Given the description of an element on the screen output the (x, y) to click on. 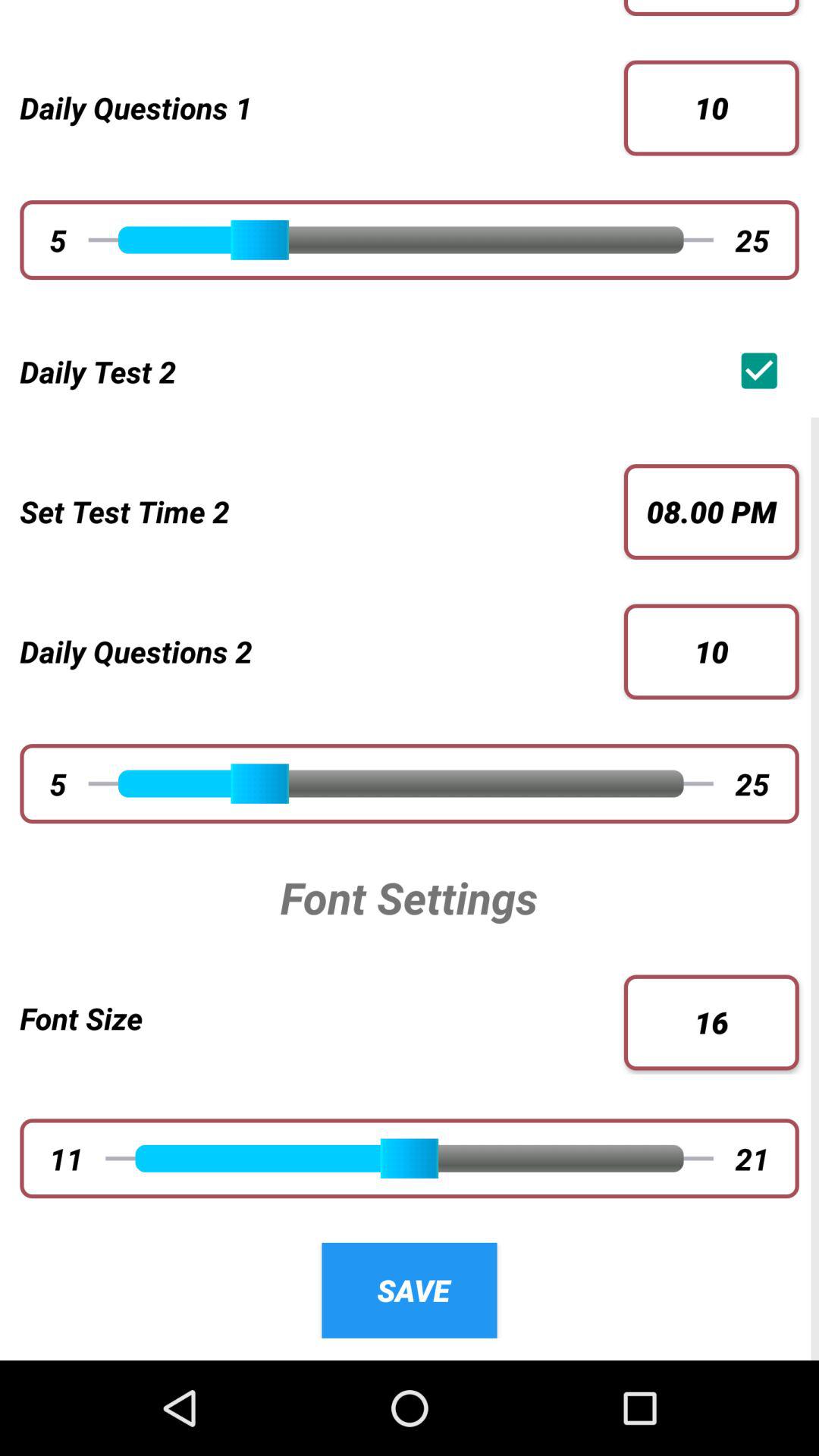
select button next to the  08.00 pm  icon (311, 511)
